Given the description of an element on the screen output the (x, y) to click on. 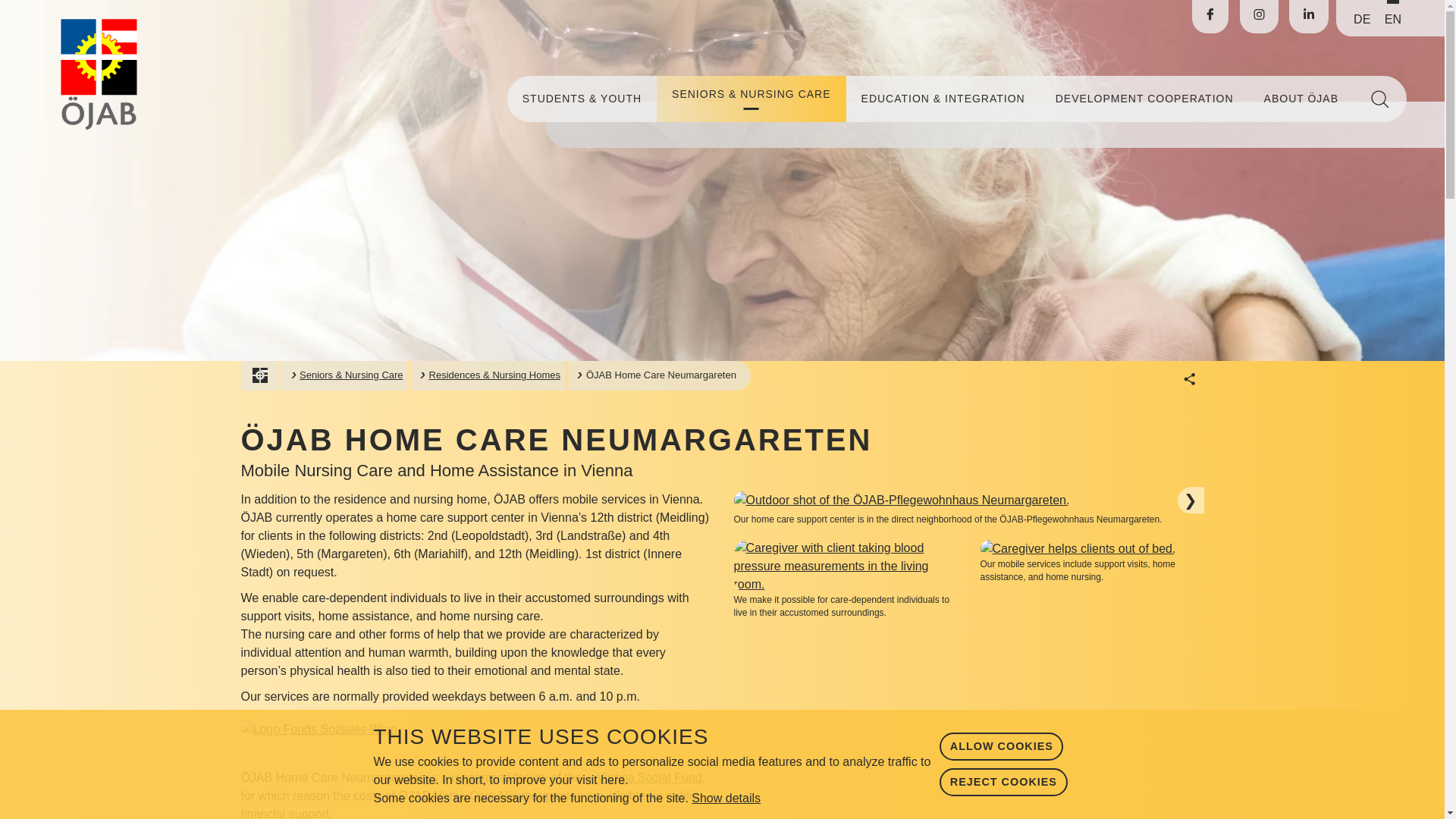
share oejab.at (1190, 377)
